Given the description of an element on the screen output the (x, y) to click on. 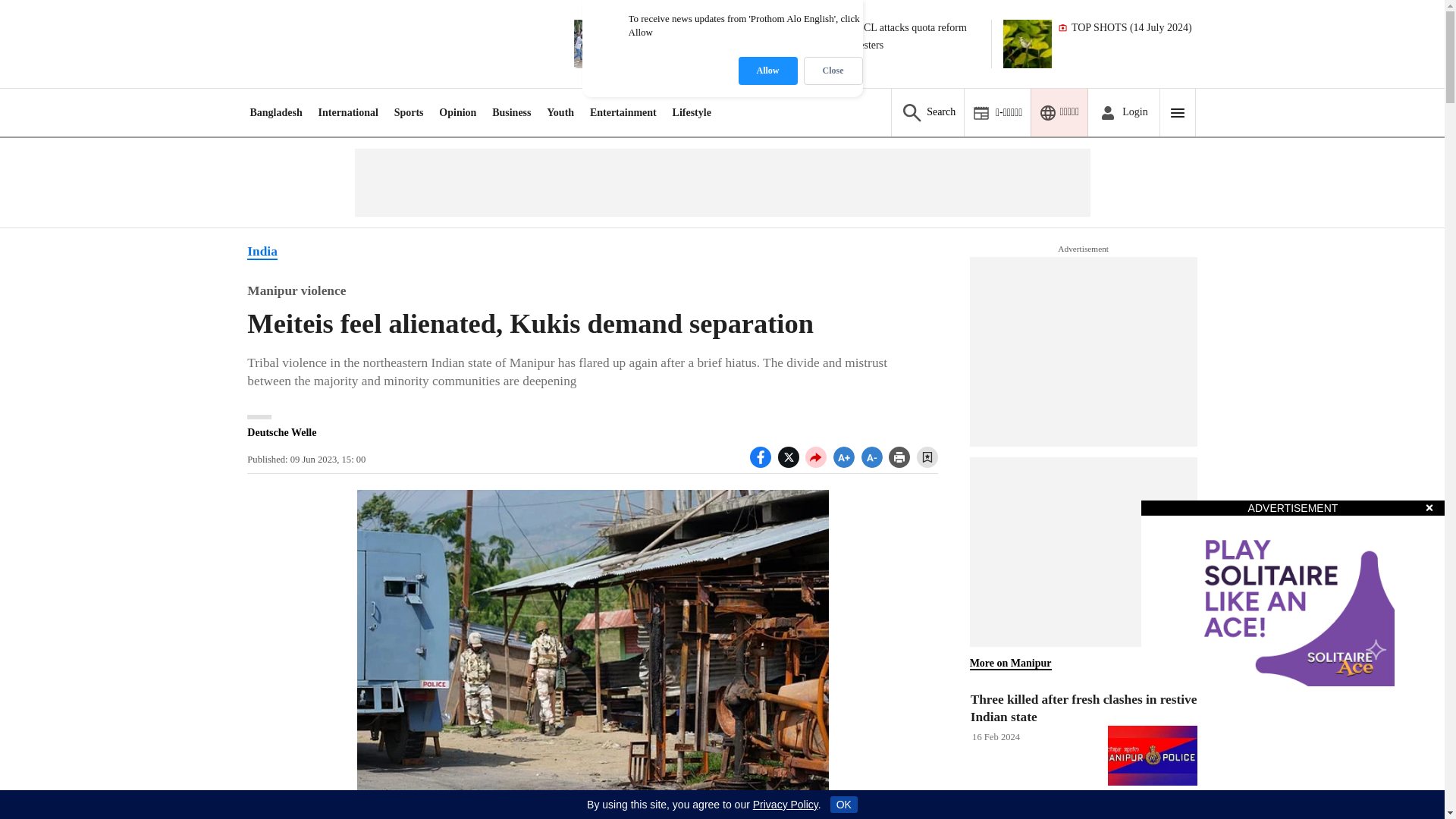
3rd party ad content (721, 182)
Business (511, 112)
Quota reform movement: BCL attacks quota protesters (696, 43)
Login (1134, 112)
Privacy Policy (785, 804)
BCL attacks quota reform protesters (911, 43)
Login (1122, 112)
Youth (560, 112)
Entertainment (622, 112)
3rd party ad content (1082, 351)
International (348, 112)
OK (843, 804)
Search (926, 112)
3rd party ad content (1082, 552)
Sports (408, 112)
